Given the description of an element on the screen output the (x, y) to click on. 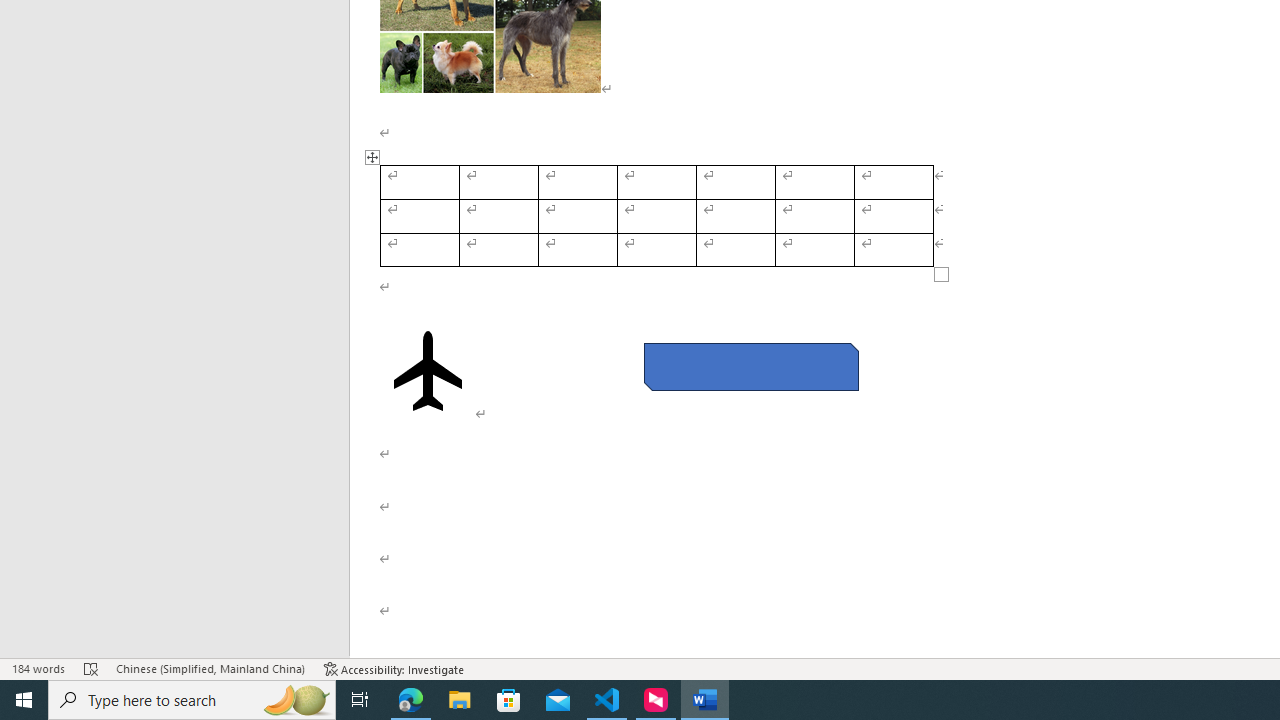
Rectangle: Diagonal Corners Snipped 2 (750, 366)
Airplane with solid fill (428, 371)
Word Count 184 words (37, 668)
